Given the description of an element on the screen output the (x, y) to click on. 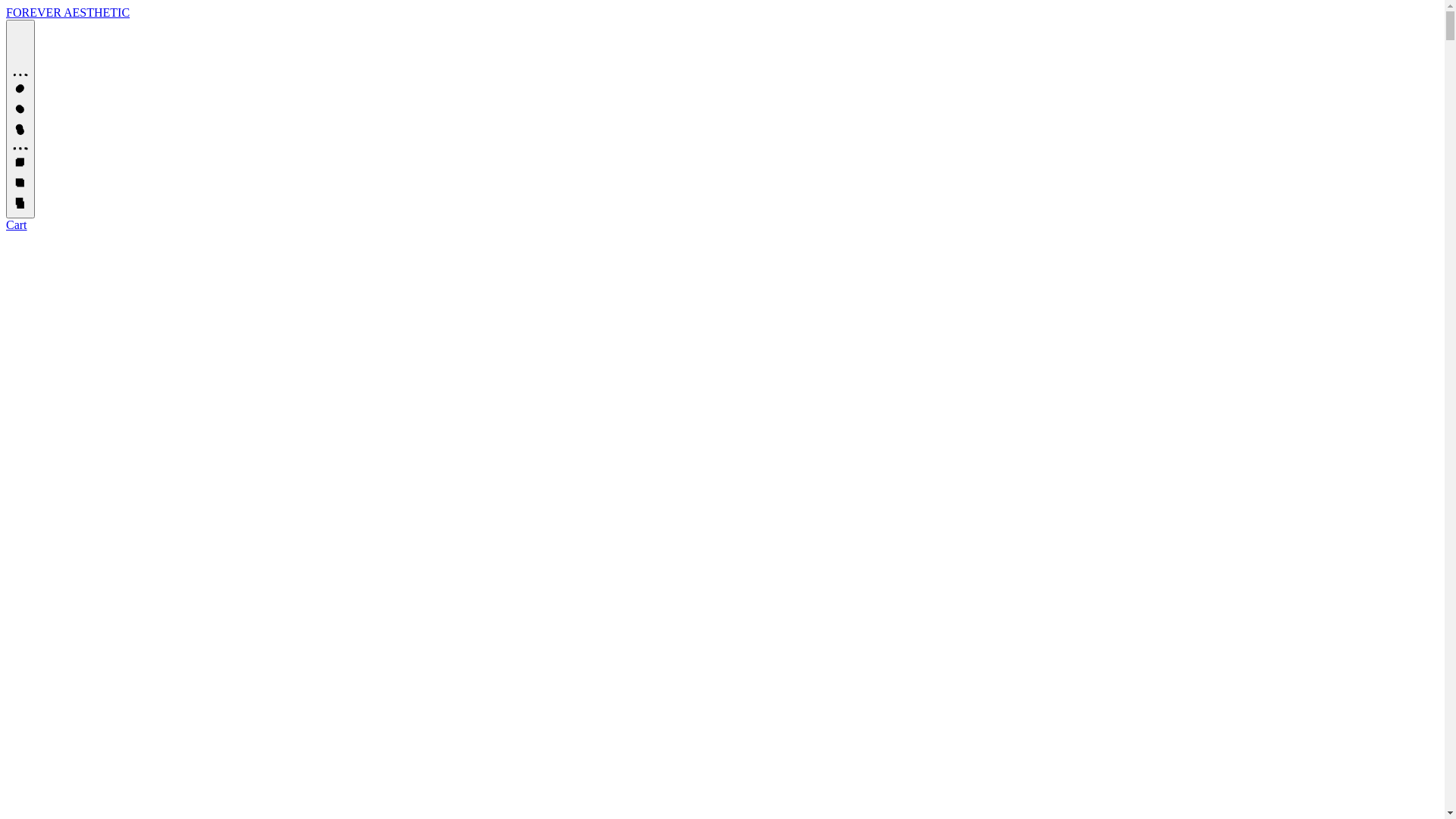
FOREVER AESTHETIC Element type: text (67, 12)
